Given the description of an element on the screen output the (x, y) to click on. 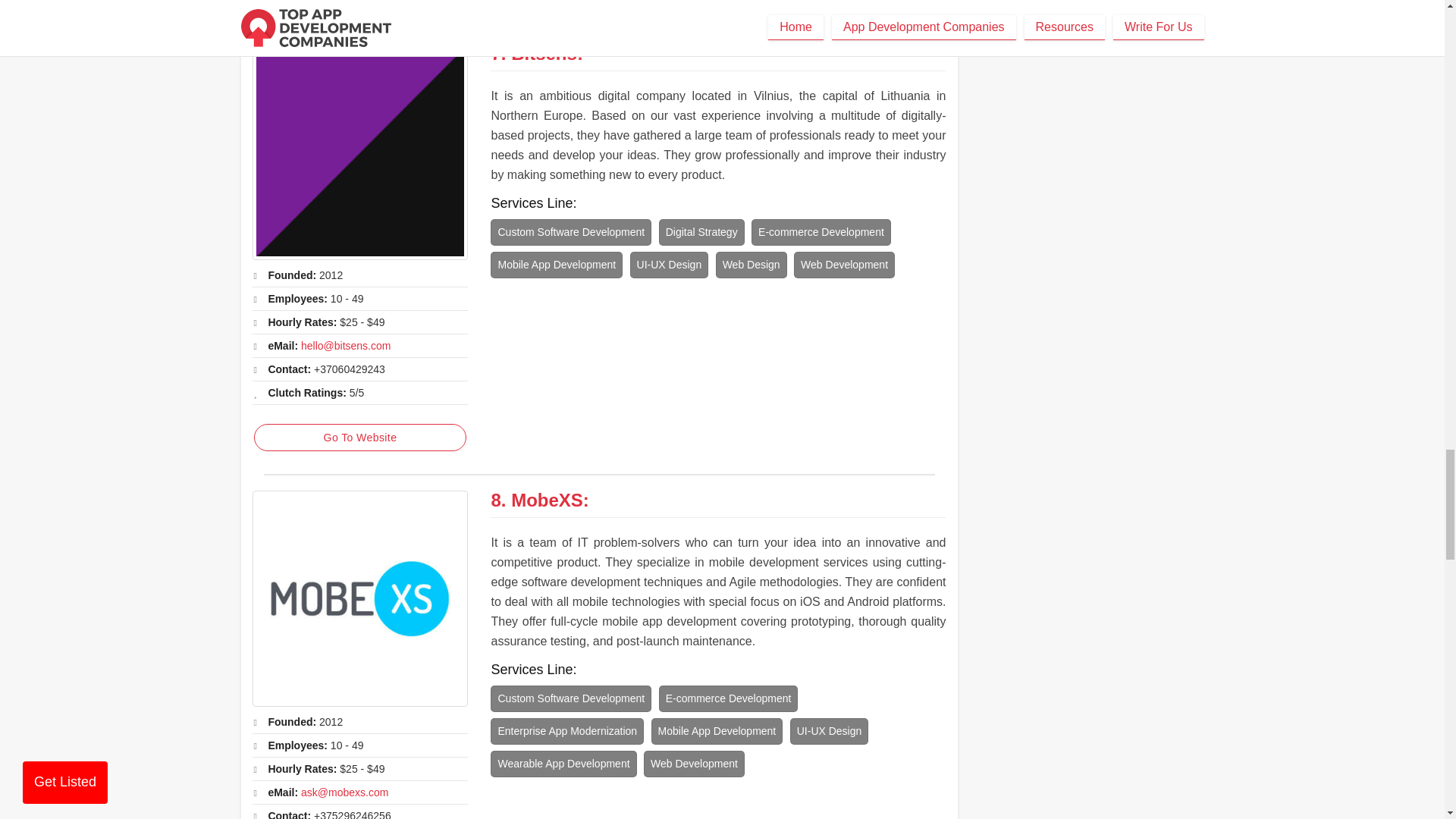
MobeXS (359, 598)
Bitsens (359, 152)
Go To Website (359, 437)
Bitsens (543, 53)
Go To Website (359, 2)
